Given the description of an element on the screen output the (x, y) to click on. 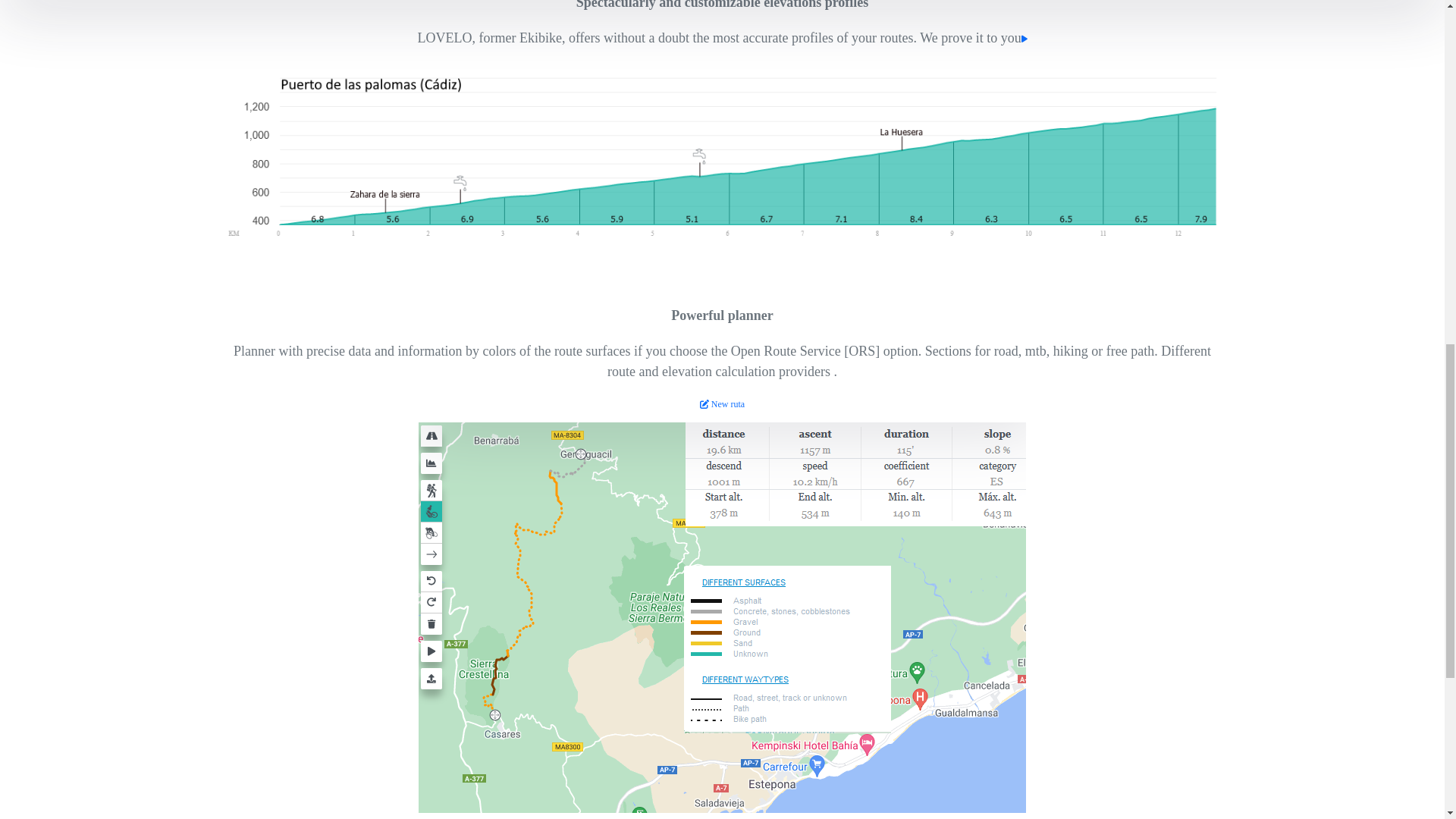
New ruta (722, 403)
